Given the description of an element on the screen output the (x, y) to click on. 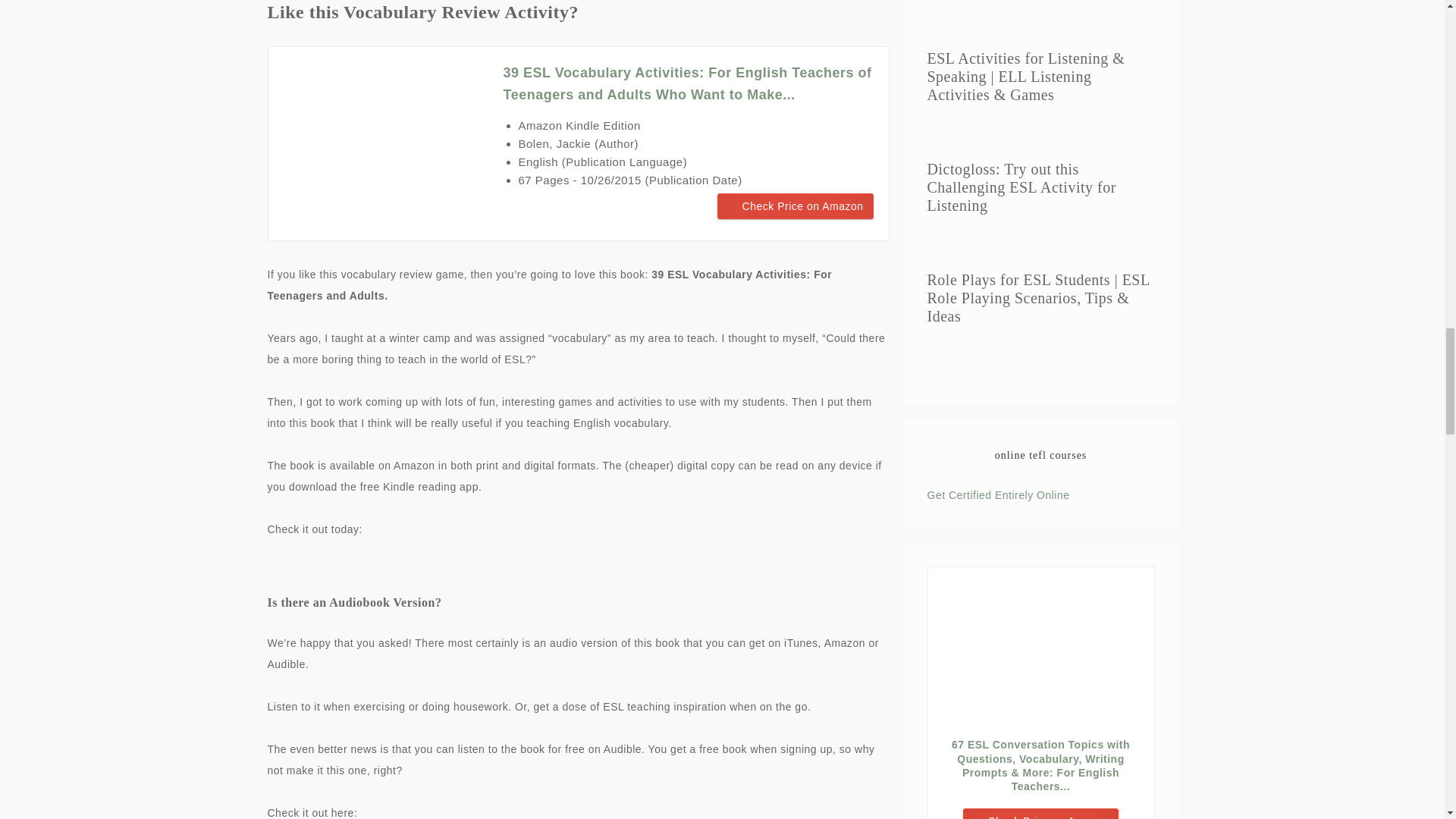
Check Price on Amazon (795, 206)
Check Price on Amazon (795, 206)
